Given the description of an element on the screen output the (x, y) to click on. 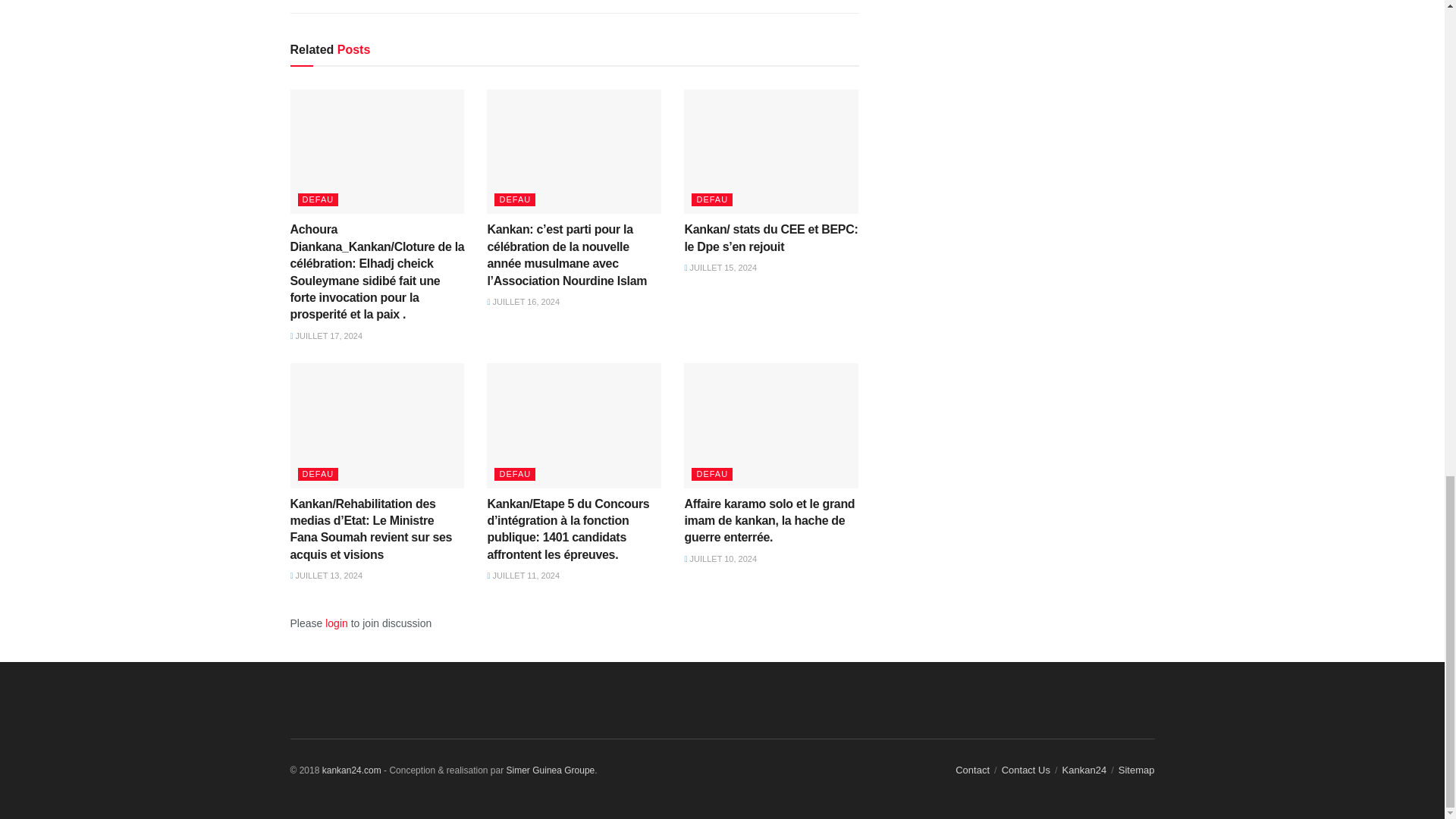
kankan24.com (351, 769)
Simer Guinea Groupe (550, 769)
